Given the description of an element on the screen output the (x, y) to click on. 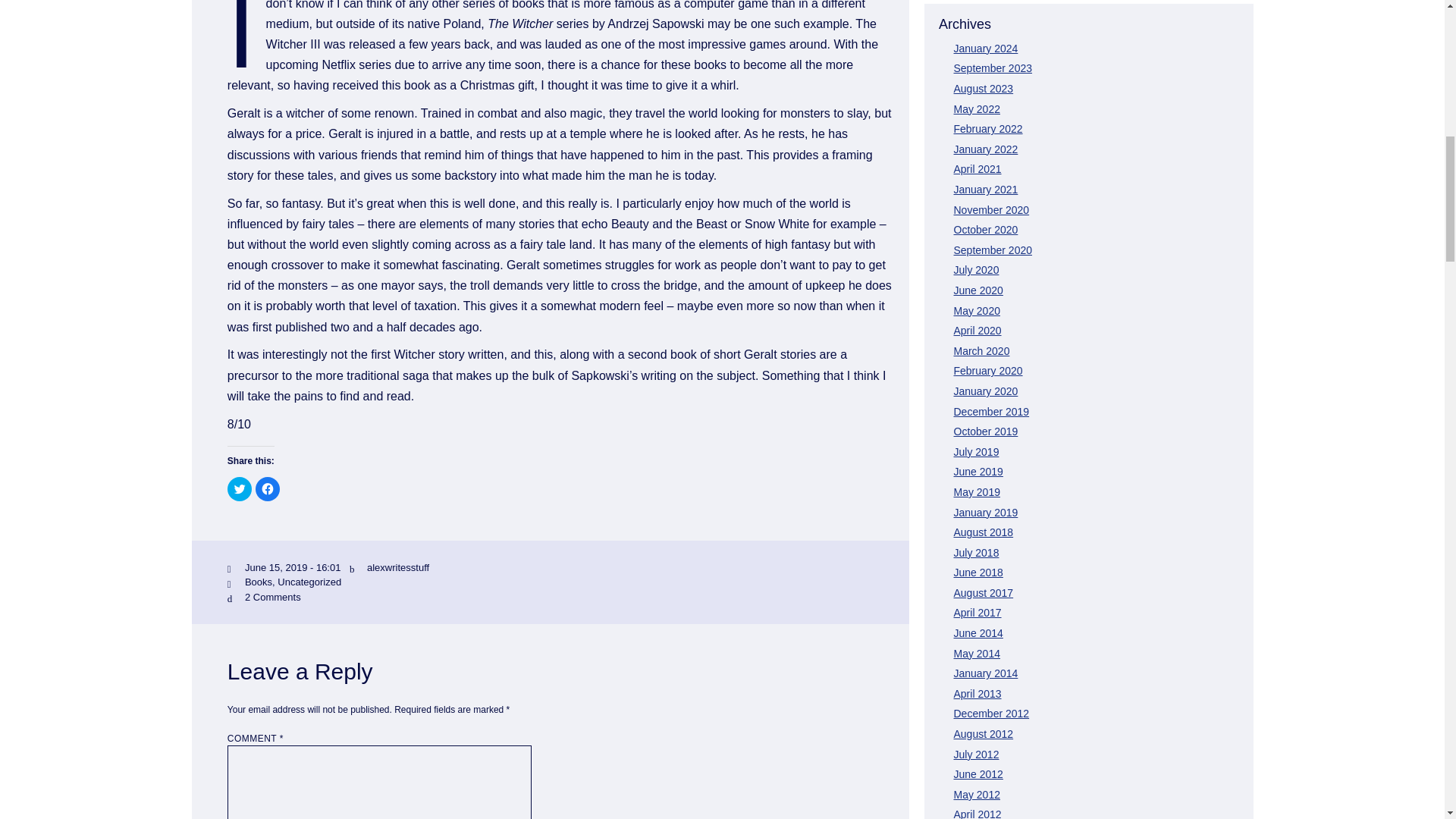
May 2022 (976, 109)
April 2021 (977, 168)
September 2020 (992, 250)
January 2021 (985, 189)
January 2024 (985, 48)
November 2020 (991, 209)
August 2023 (983, 88)
Posts by alexwritesstuff (397, 567)
Click to share on Facebook (267, 488)
January 2022 (985, 149)
